Given the description of an element on the screen output the (x, y) to click on. 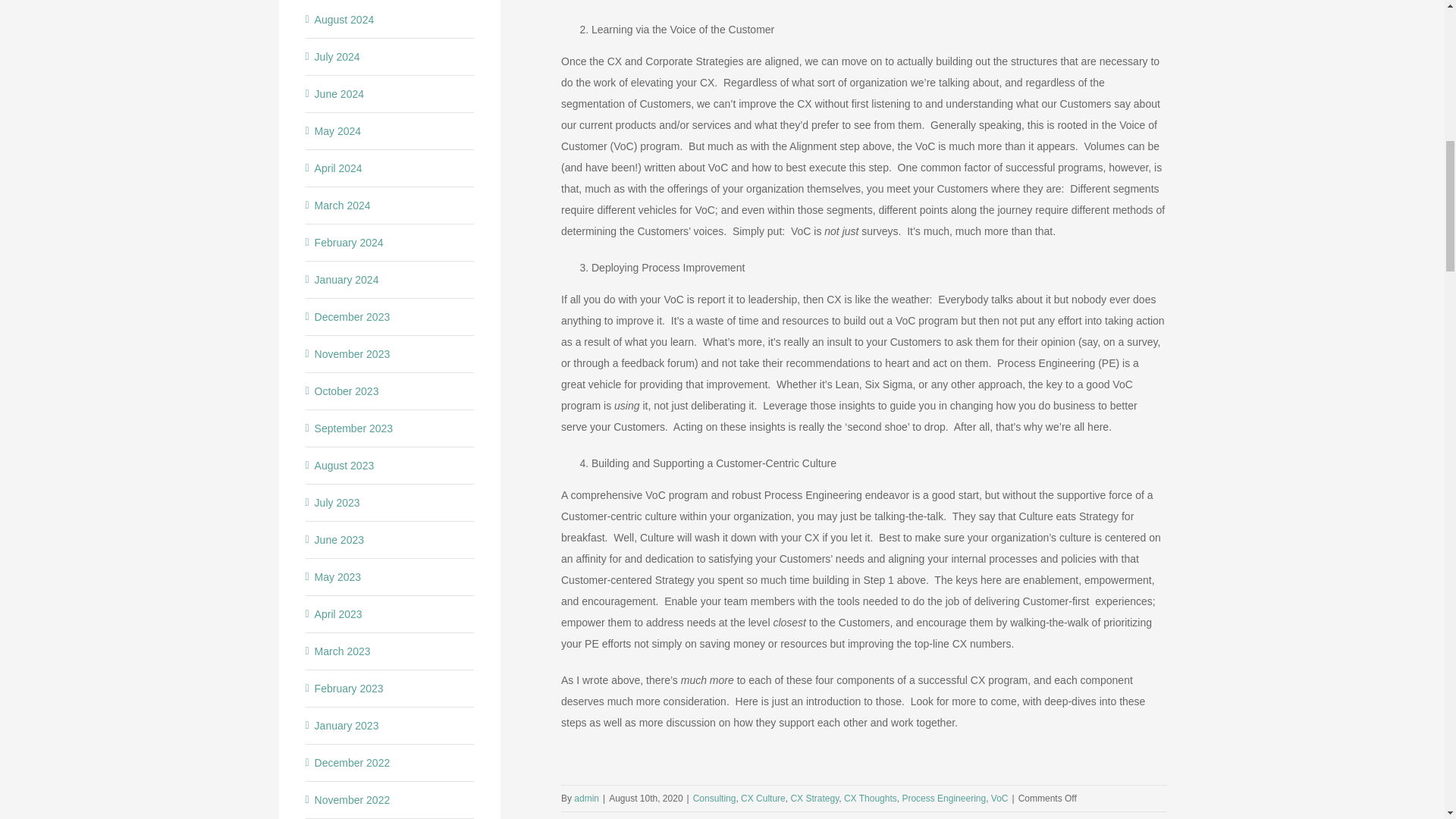
Posts by admin (585, 798)
VoC (1000, 798)
CX Culture (763, 798)
CX Thoughts (870, 798)
CX Strategy (814, 798)
Consulting (714, 798)
admin (585, 798)
Process Engineering (943, 798)
